Given the description of an element on the screen output the (x, y) to click on. 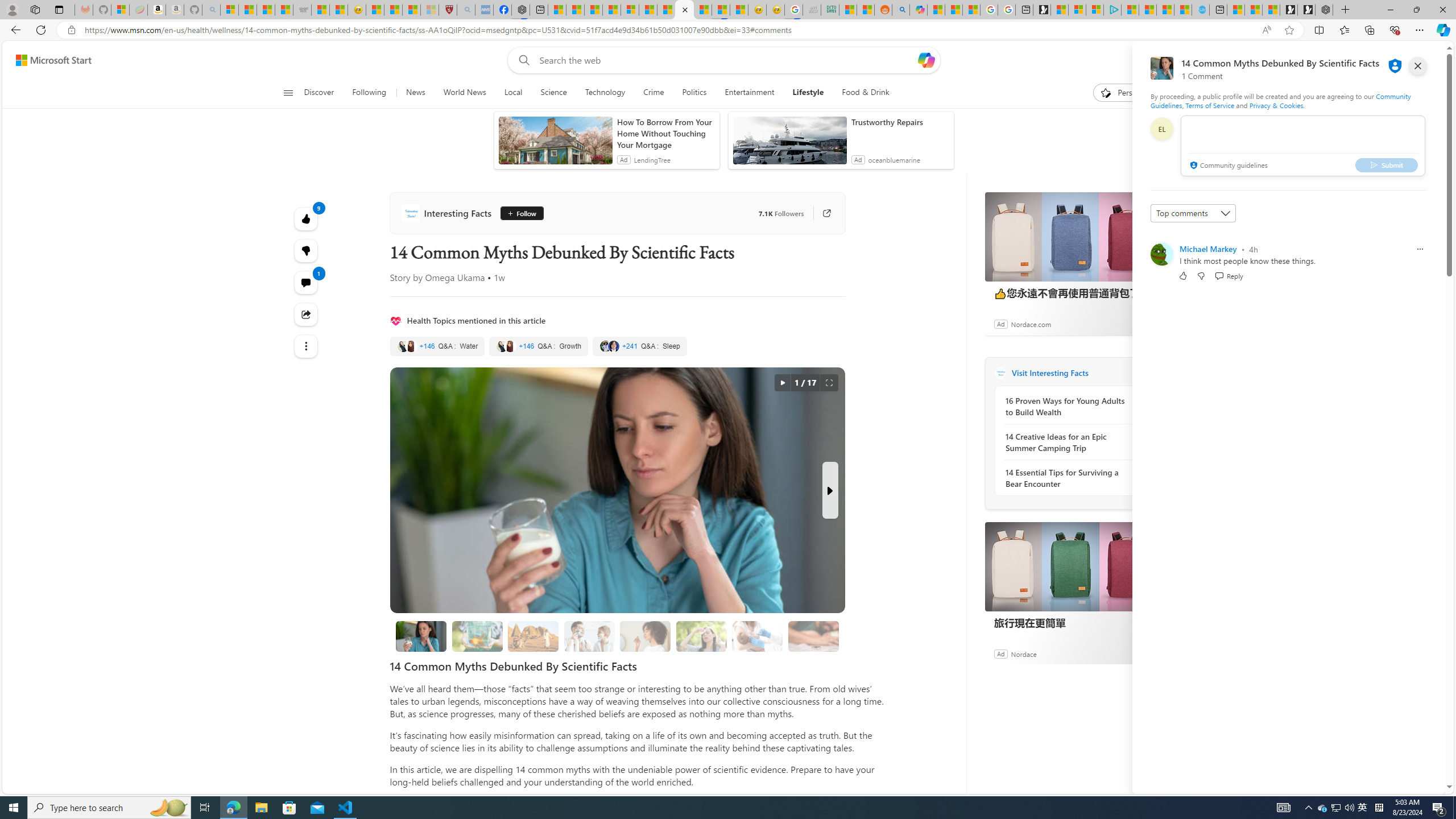
16 Proven Ways for Young Adults to Build Wealth (1066, 406)
1. Disposable Razors (588, 635)
View comments 1 Comment (305, 282)
DITOGAMES AG Imprint (830, 9)
Community guidelines (1228, 165)
Class: quote-thumbnail (613, 345)
Like (1182, 275)
